Given the description of an element on the screen output the (x, y) to click on. 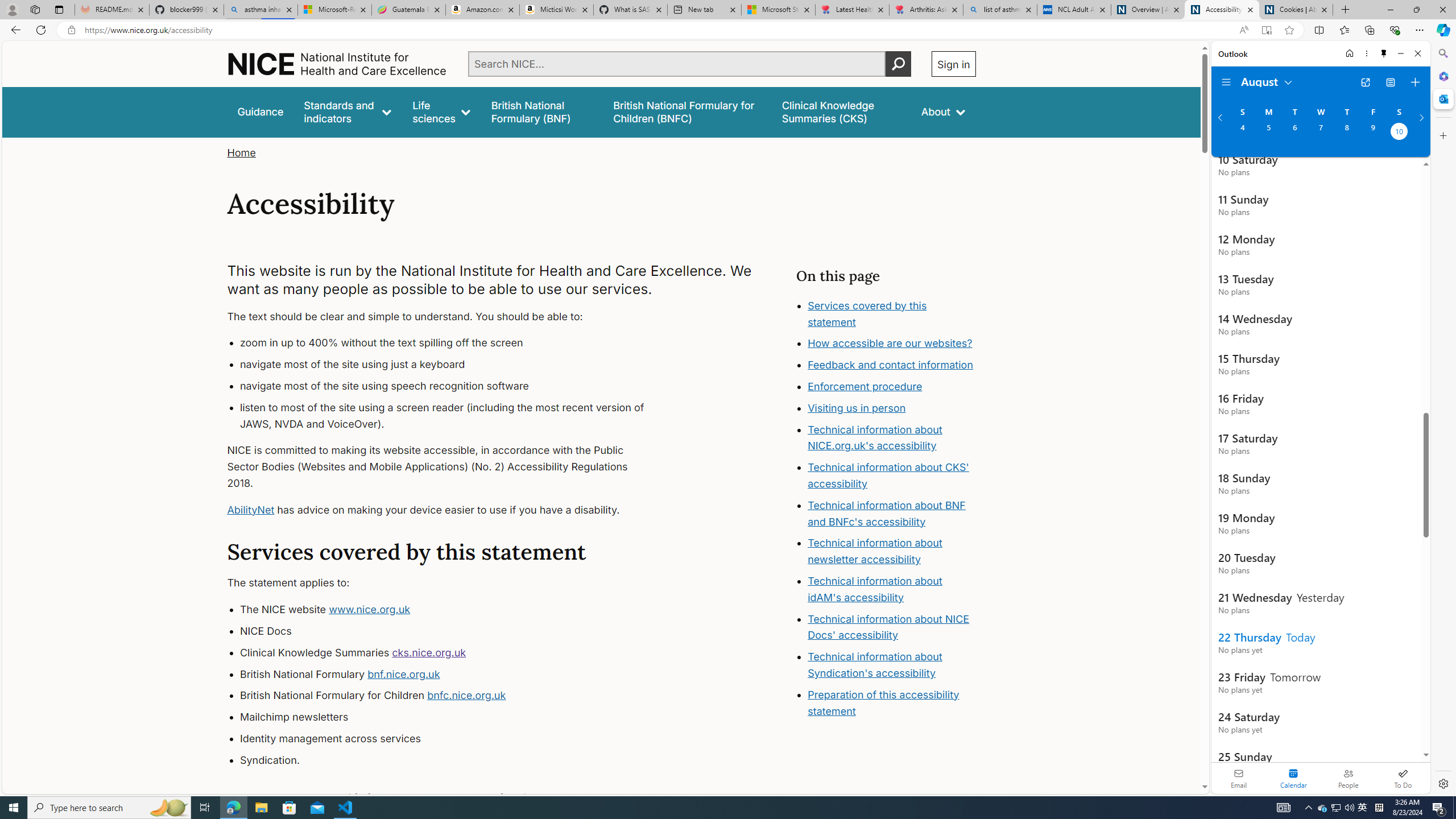
Guidance (260, 111)
false (841, 111)
bnfc.nice.org.uk (466, 695)
bnf.nice.org.uk (402, 673)
Technical information about newsletter accessibility (875, 551)
Saturday, August 10, 2024. Date selected.  (1399, 132)
Enter Immersive Reader (F9) (1266, 29)
navigate most of the site using speech recognition software (452, 385)
